Given the description of an element on the screen output the (x, y) to click on. 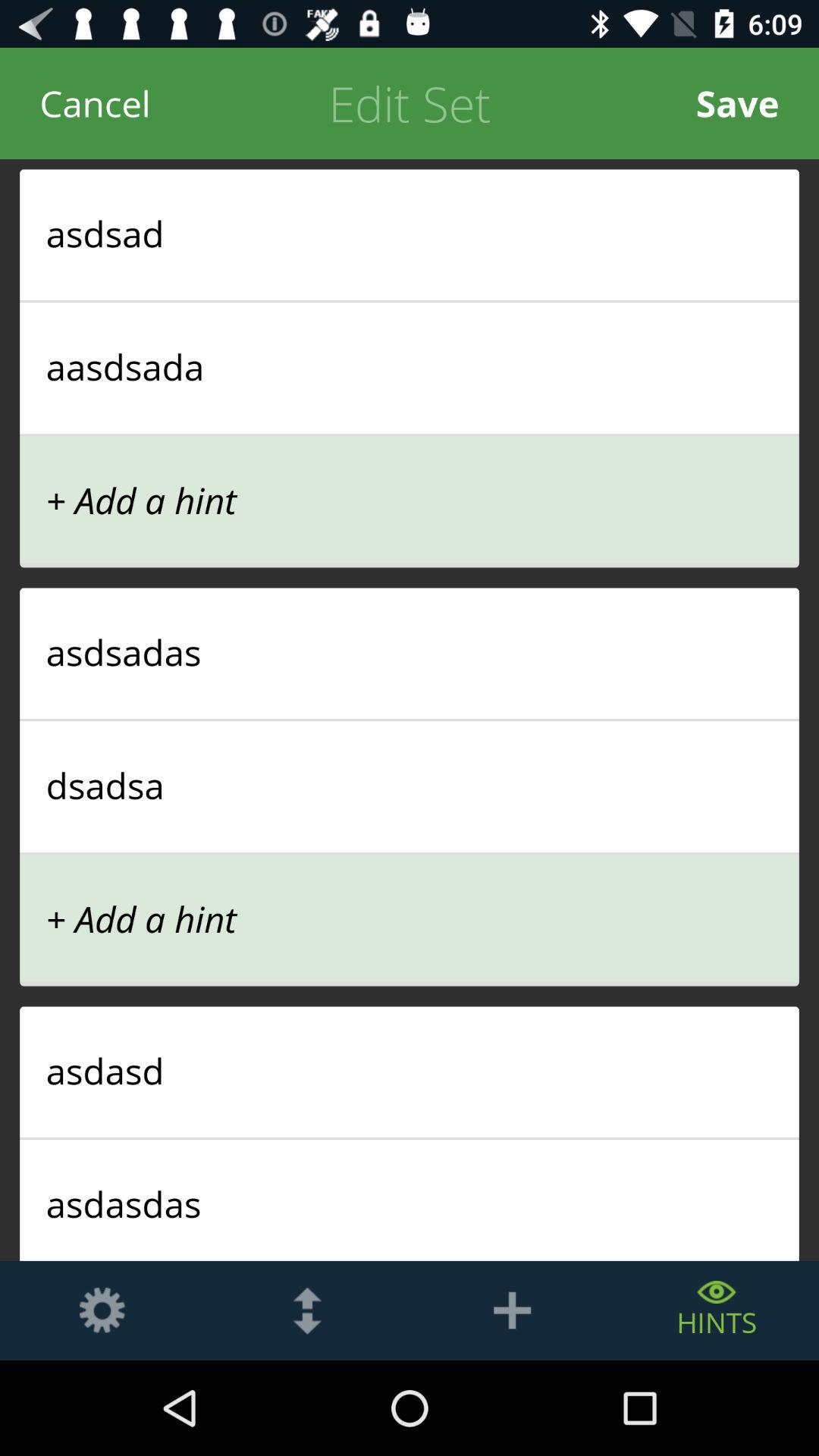
open settings (102, 1310)
